Given the description of an element on the screen output the (x, y) to click on. 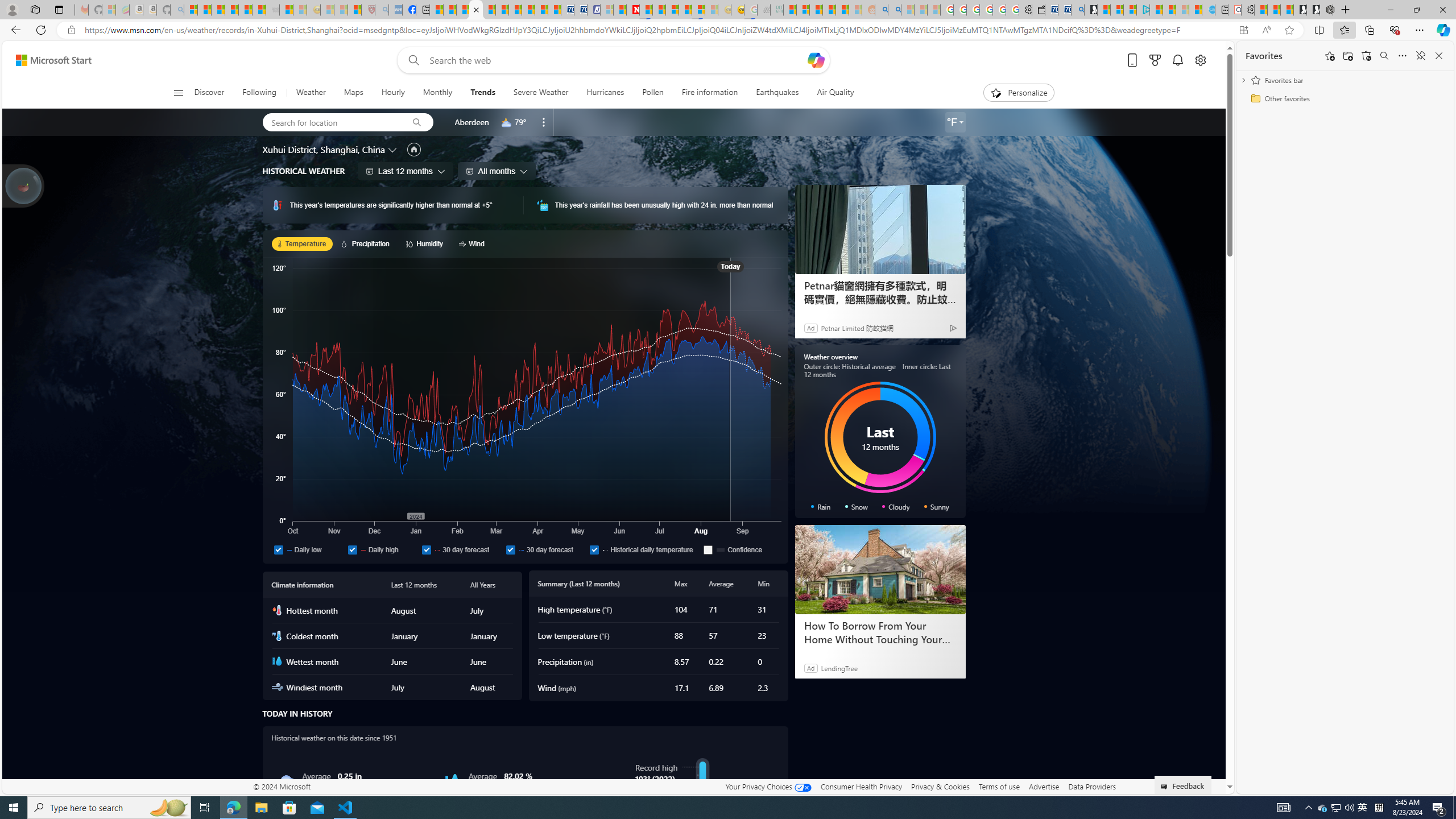
Maps (353, 92)
Change location (392, 149)
Terms of use (998, 785)
